Given the description of an element on the screen output the (x, y) to click on. 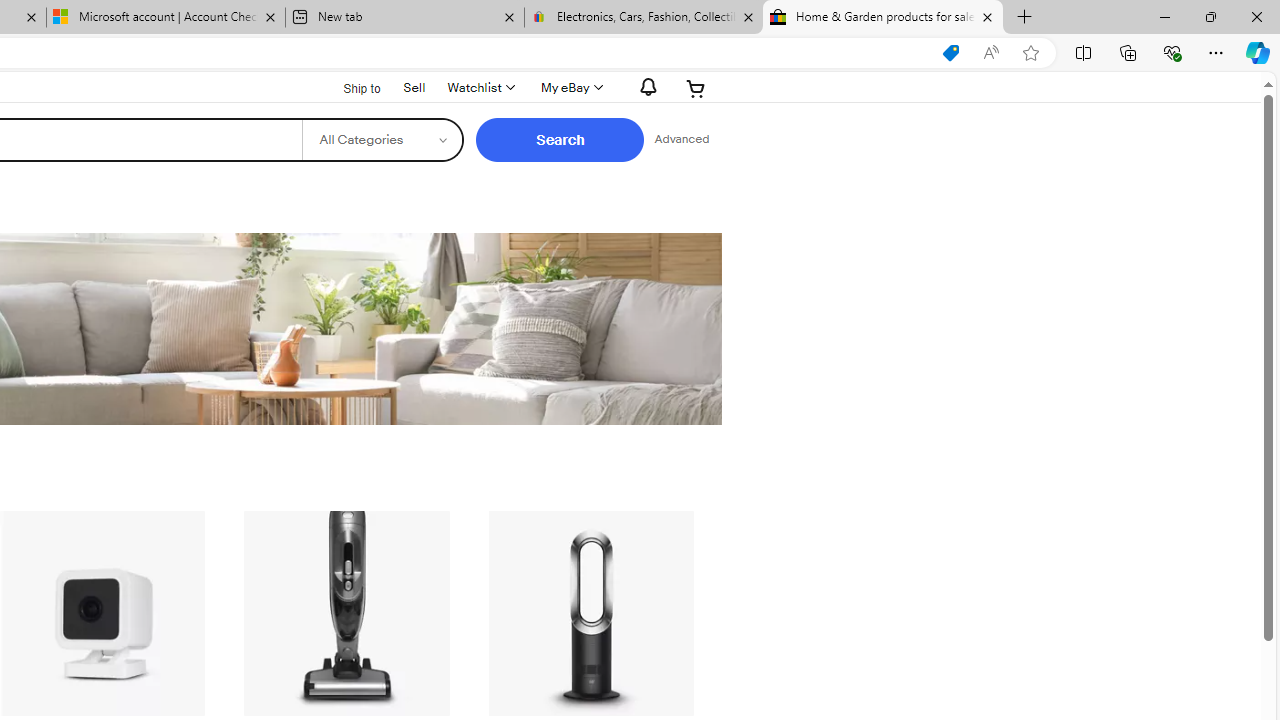
Copilot (Ctrl+Shift+.) (1258, 52)
Sell (414, 87)
Split screen (1083, 52)
Search (560, 140)
New Tab (1025, 17)
Add this page to favorites (Ctrl+D) (1030, 53)
Browser essentials (1171, 52)
Microsoft account | Account Checkup (166, 17)
New tab (404, 17)
My eBayExpand My eBay (569, 88)
Ship to (349, 86)
Home & Garden products for sale | eBay (883, 17)
Your shopping cart (696, 88)
Advanced Search (681, 139)
WatchlistExpand Watch List (479, 88)
